Given the description of an element on the screen output the (x, y) to click on. 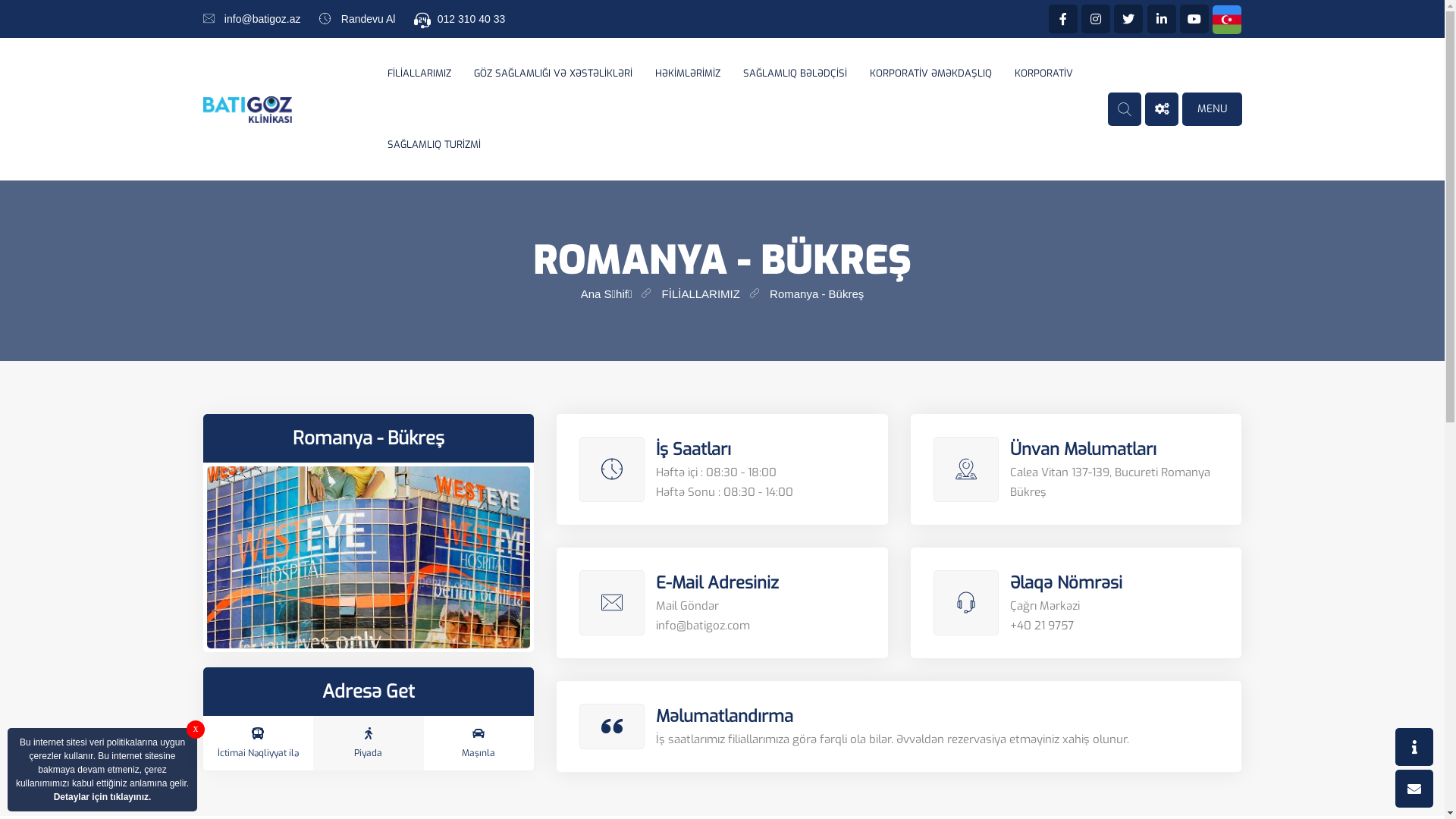
x Element type: text (195, 729)
  Element type: text (1226, 18)
Piyada Element type: text (368, 742)
Randevu Al Element type: text (368, 18)
MENU Element type: text (1212, 108)
012 310 40 33 Element type: text (471, 18)
info@batigoz.az Element type: text (262, 18)
